Given the description of an element on the screen output the (x, y) to click on. 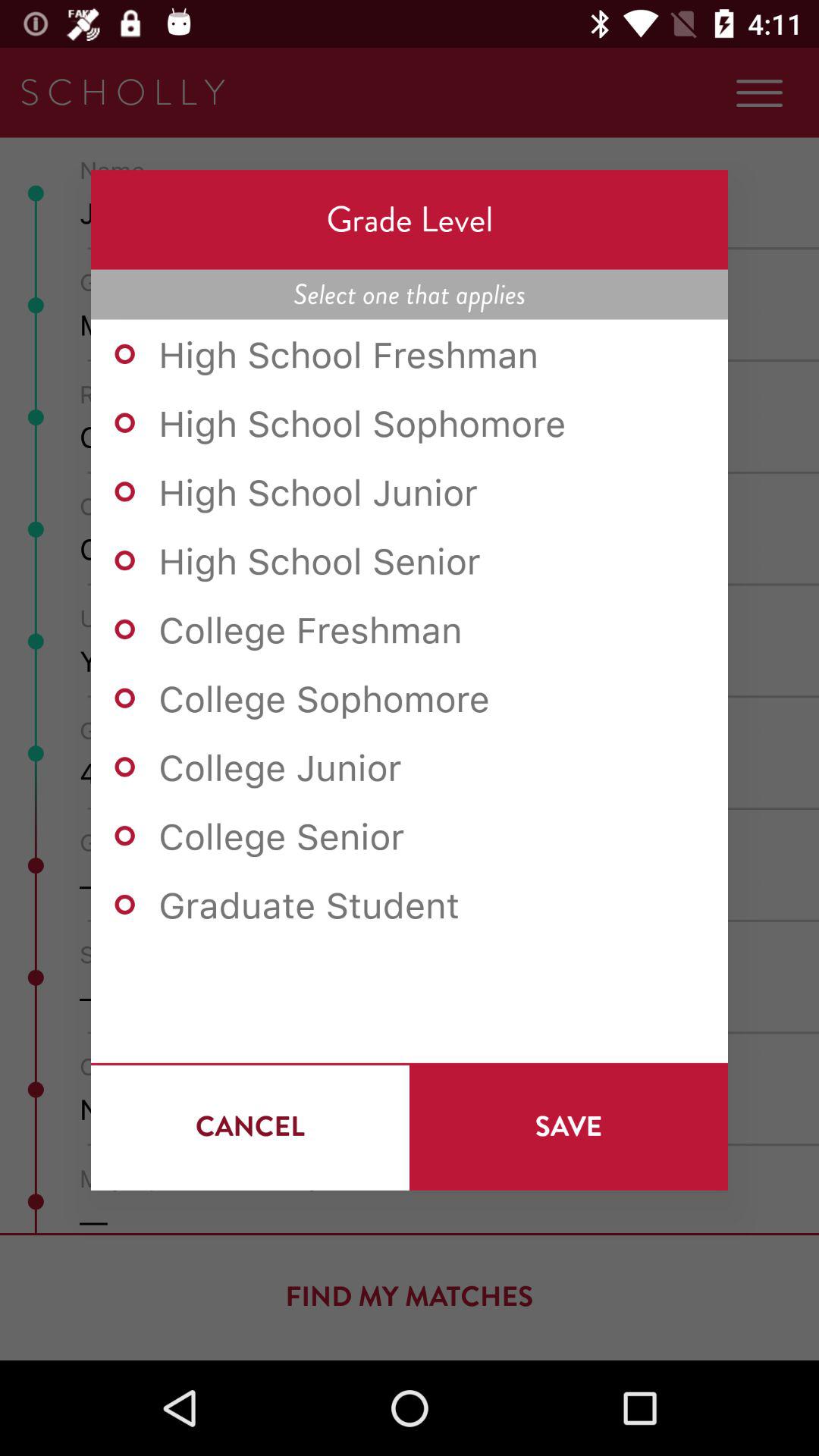
choose icon at the bottom right corner (568, 1126)
